Given the description of an element on the screen output the (x, y) to click on. 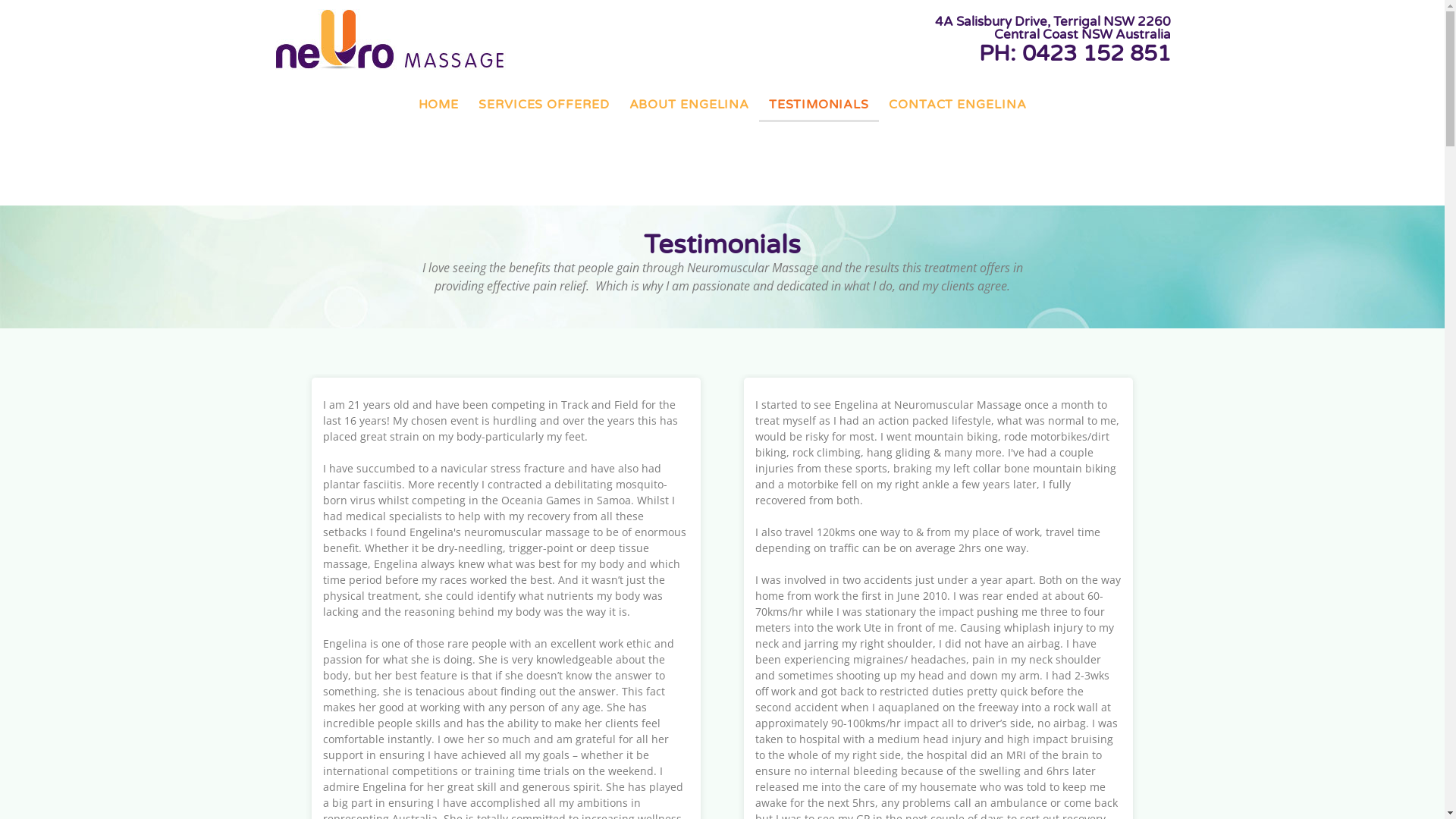
SERVICES OFFERED Element type: text (543, 104)
ABOUT ENGELINA Element type: text (689, 104)
TESTIMONIALS Element type: text (818, 104)
HOME Element type: text (438, 104)
PH: 0423 152 851 Element type: text (1074, 53)
CONTACT ENGELINA Element type: text (956, 104)
